Given the description of an element on the screen output the (x, y) to click on. 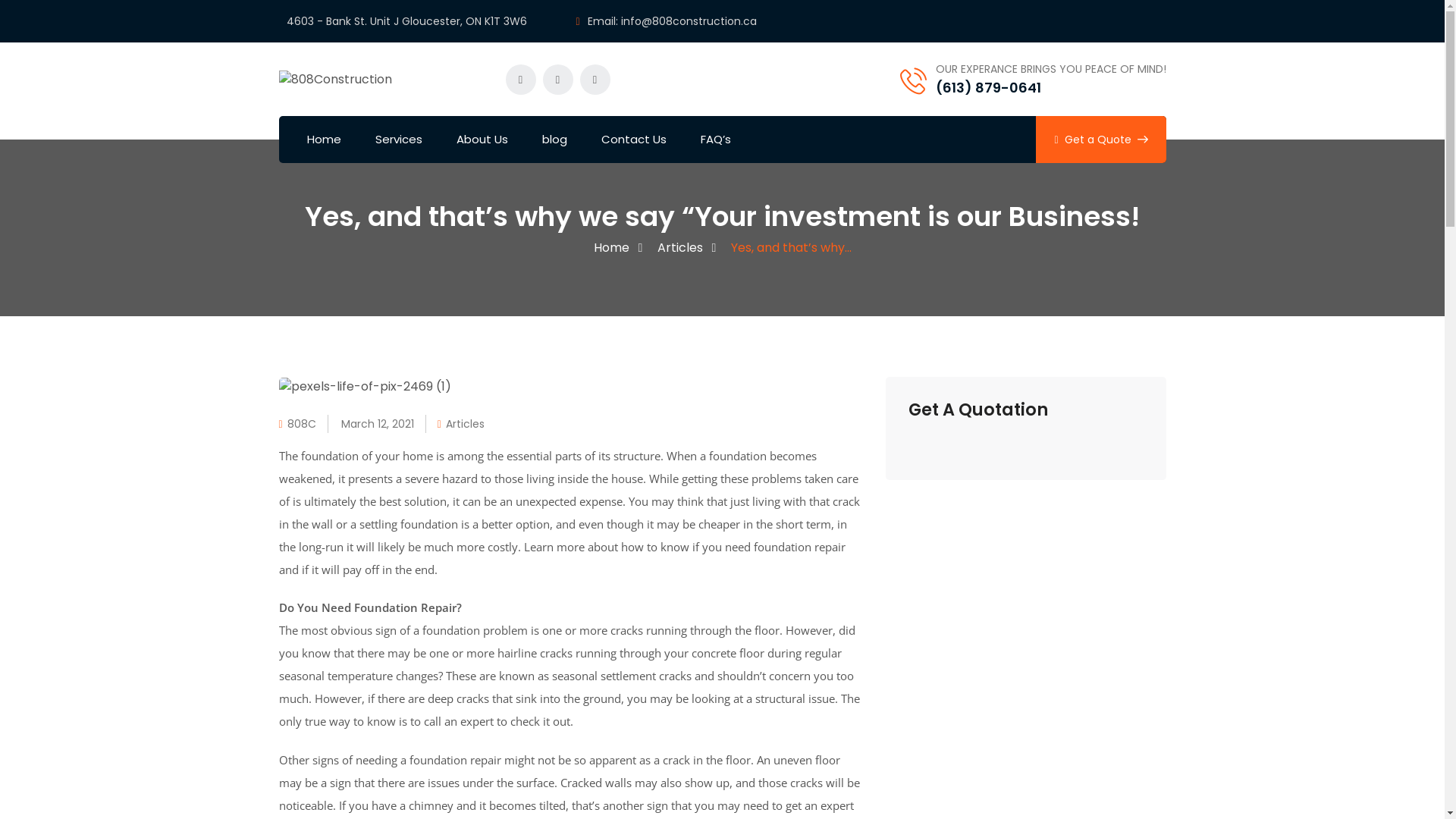
Home Element type: text (324, 139)
March 12, 2021 Element type: text (377, 423)
Articles Element type: text (679, 247)
Home Element type: text (610, 247)
Services Element type: text (398, 139)
blog Element type: text (554, 139)
About Us Element type: text (482, 139)
Get a Quote Element type: text (1100, 139)
Contact Us Element type: text (633, 139)
808C Element type: text (301, 423)
info@808construction.ca Element type: text (688, 20)
Articles Element type: text (464, 423)
